Given the description of an element on the screen output the (x, y) to click on. 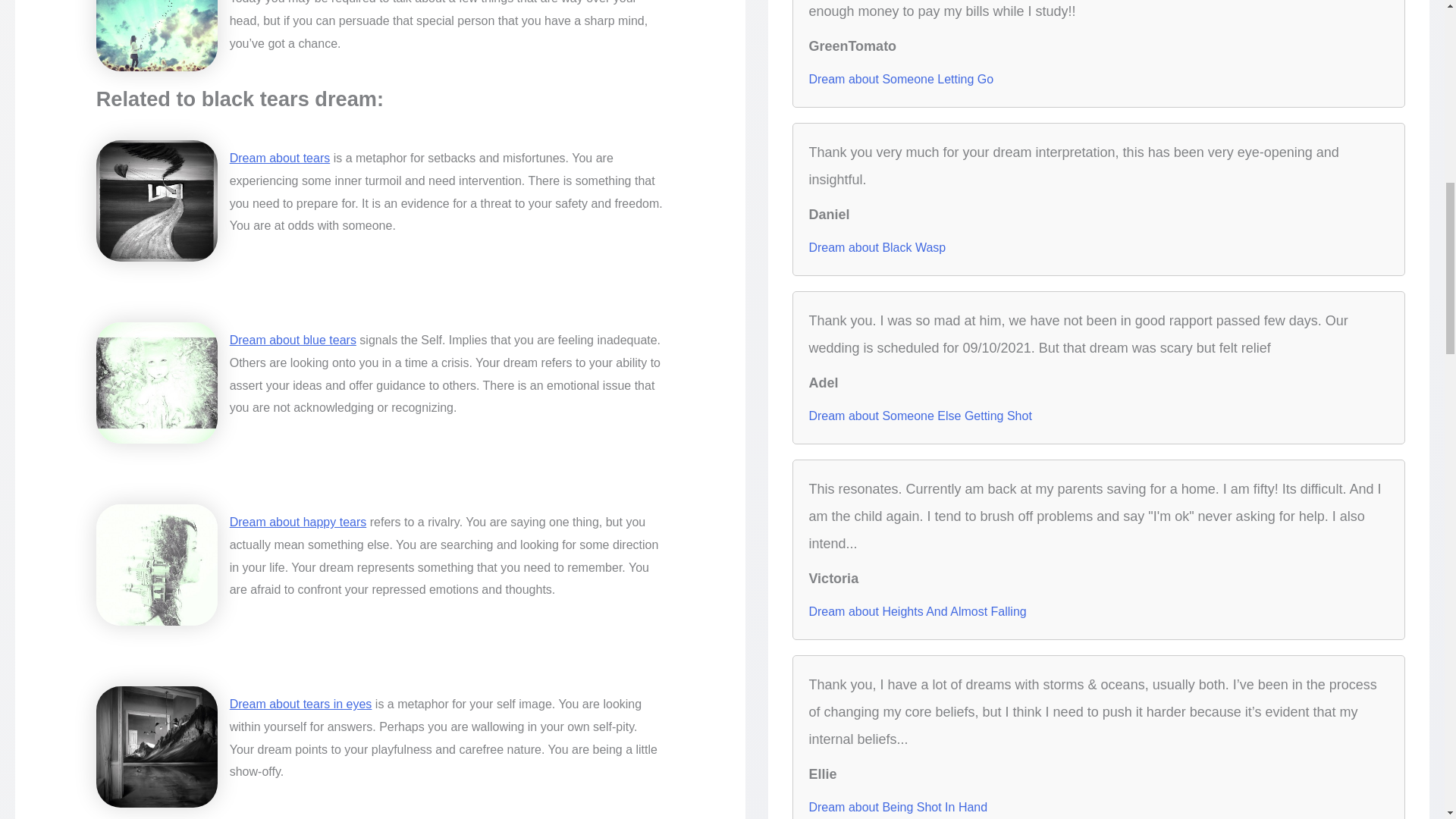
Dream about Someone Else Getting Shot (919, 416)
Dream about Someone Letting Go (900, 79)
Dream about blue tears (293, 339)
Dream about tears in eyes (301, 703)
Dream about tears (280, 157)
Dream about happy tears (298, 521)
Dream about Being Shot In Hand (897, 807)
Dream about Black Wasp (876, 247)
Dream about Heights And Almost Falling (917, 611)
